Given the description of an element on the screen output the (x, y) to click on. 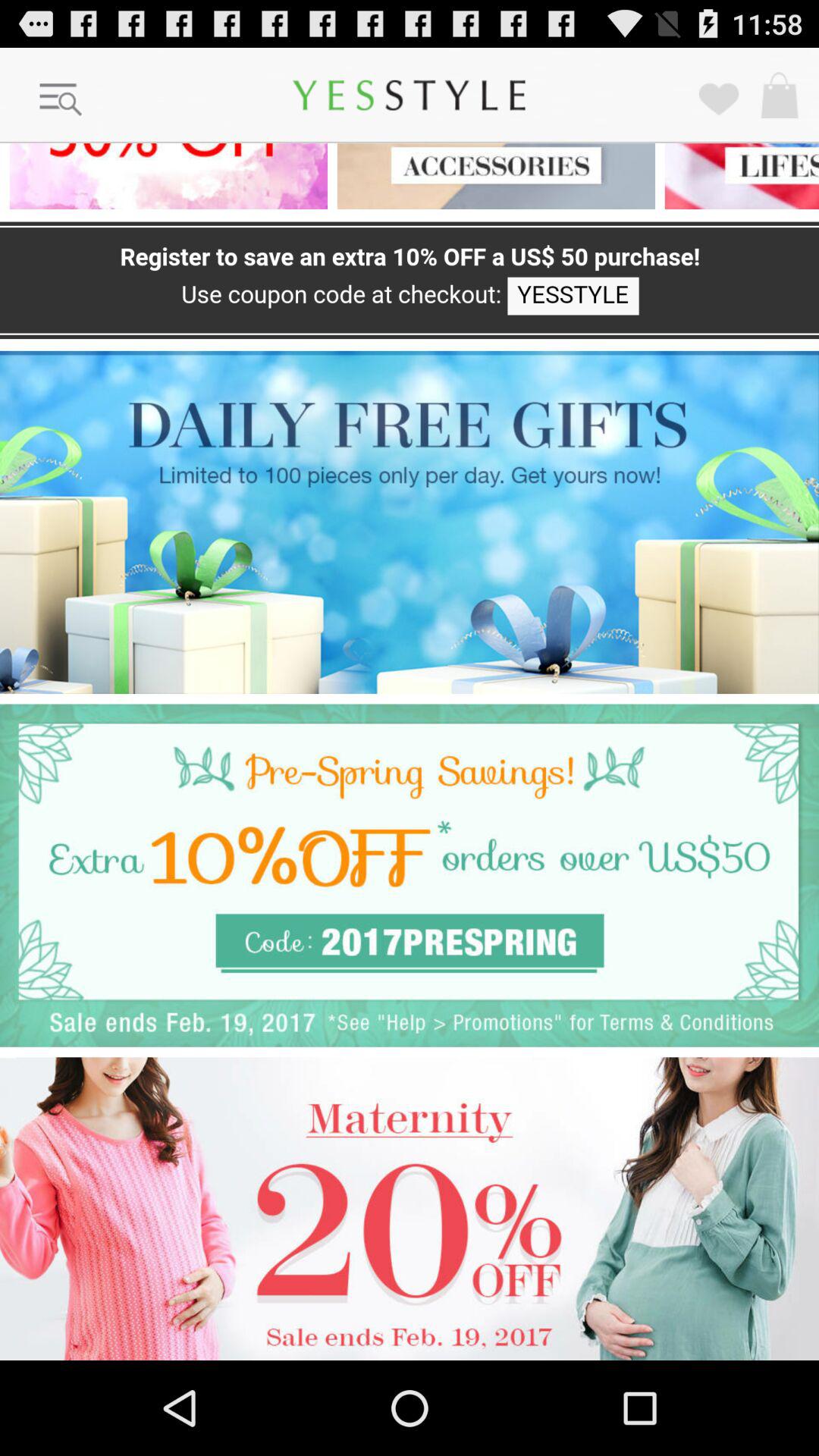
select option (409, 521)
